Given the description of an element on the screen output the (x, y) to click on. 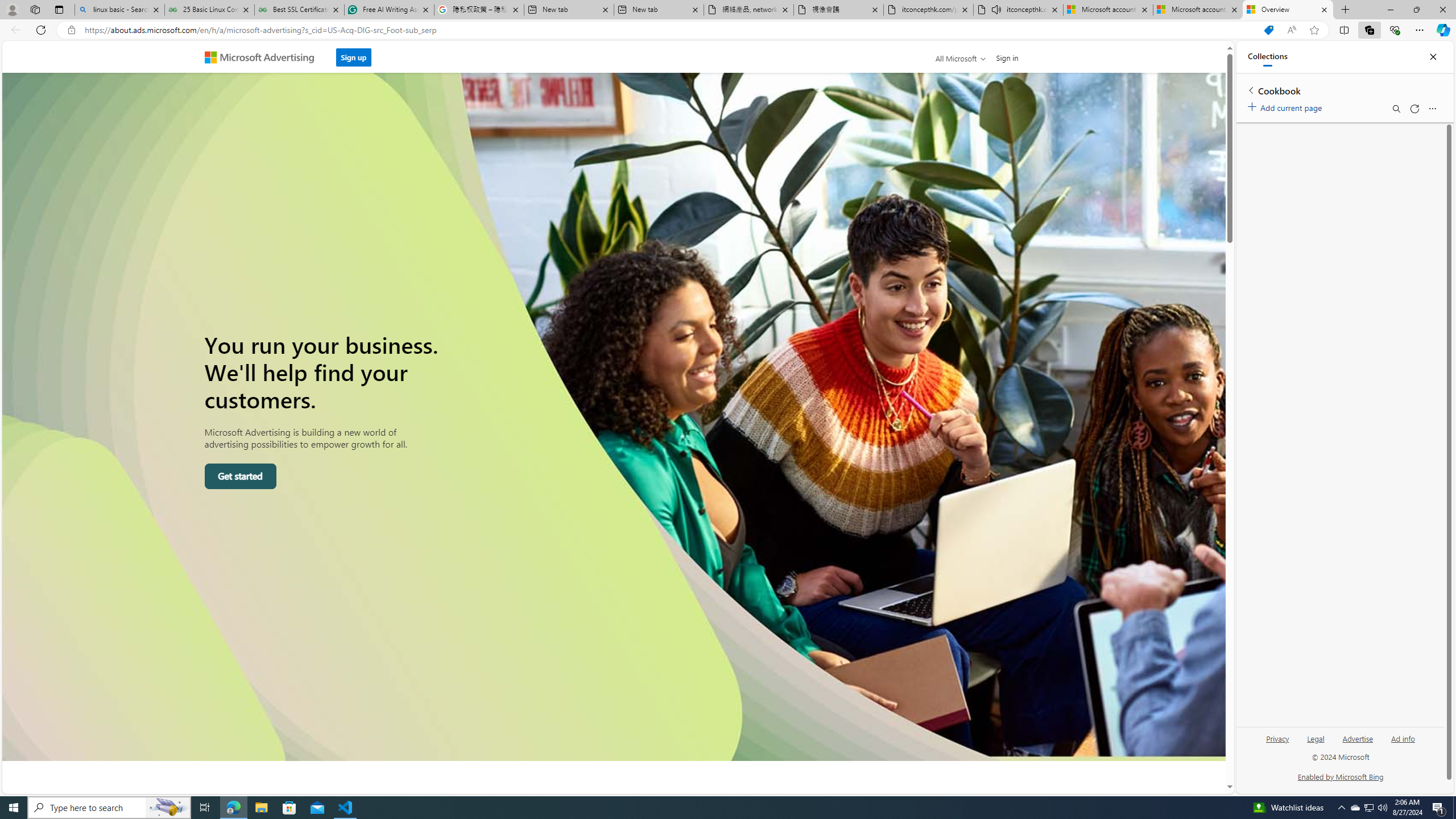
Best SSL Certificates Provider in India - GeeksforGeeks (298, 9)
Mute tab (996, 8)
Back to list of collections (1250, 90)
